Given the description of an element on the screen output the (x, y) to click on. 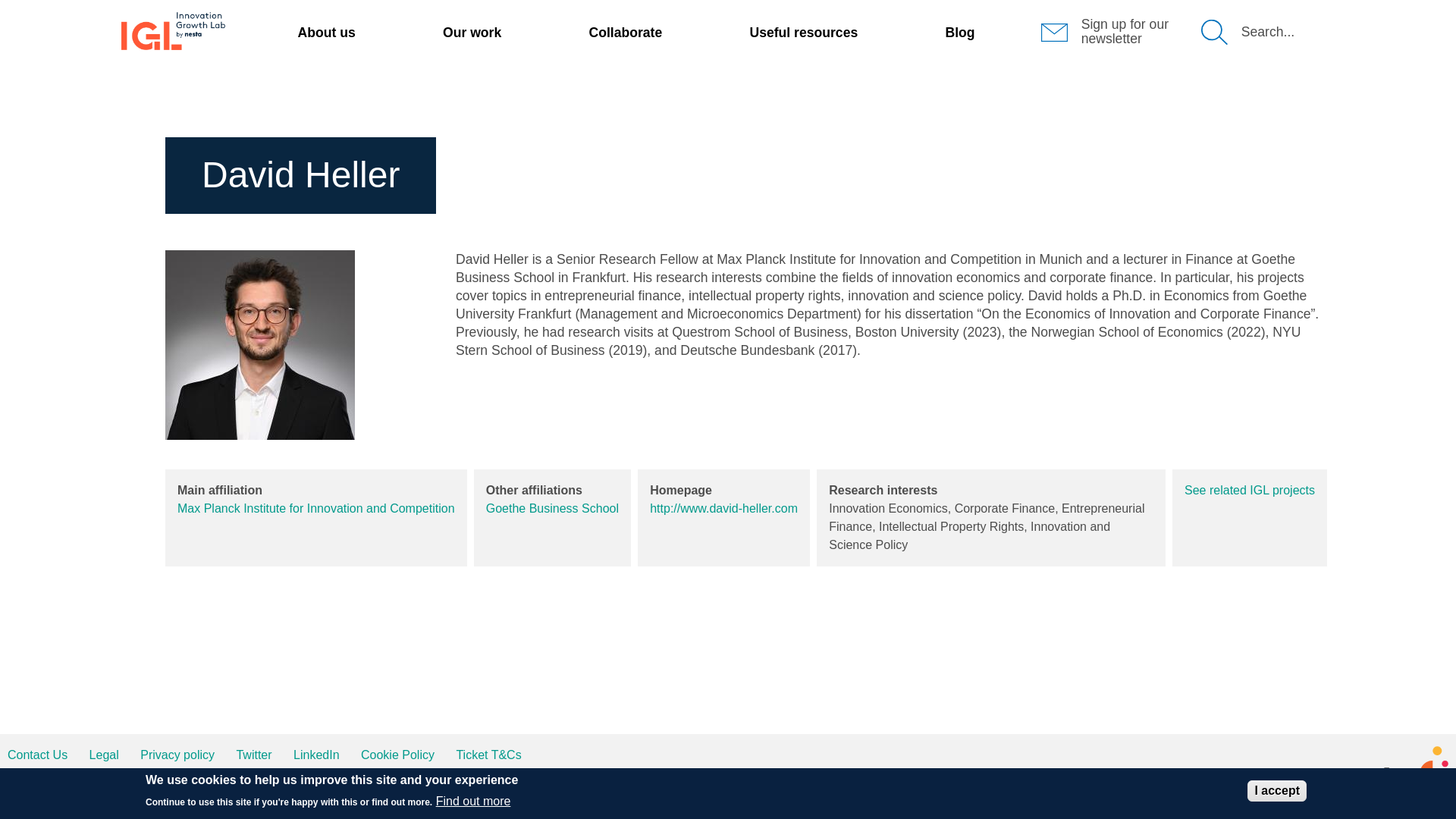
Search... (1267, 31)
Legal (103, 754)
See related IGL projects (1249, 490)
Sign up for our newsletter (1125, 30)
Privacy policy (176, 754)
Collaborate (625, 32)
Twitter (252, 754)
Max Planck Institute for Innovation and Competition (315, 508)
Blog (959, 32)
Our work (471, 32)
